Given the description of an element on the screen output the (x, y) to click on. 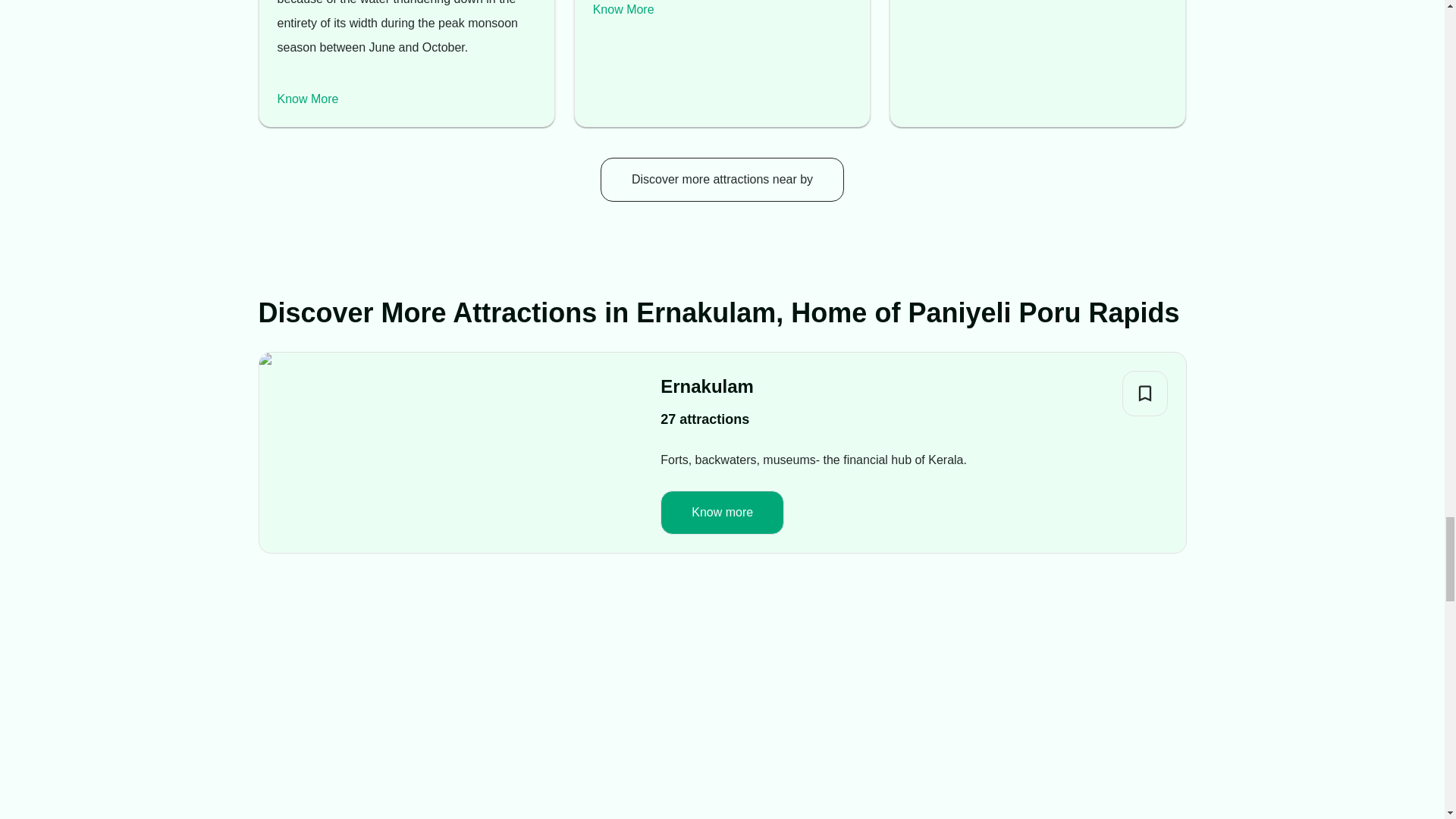
Add to Bucket List (1144, 393)
